Given the description of an element on the screen output the (x, y) to click on. 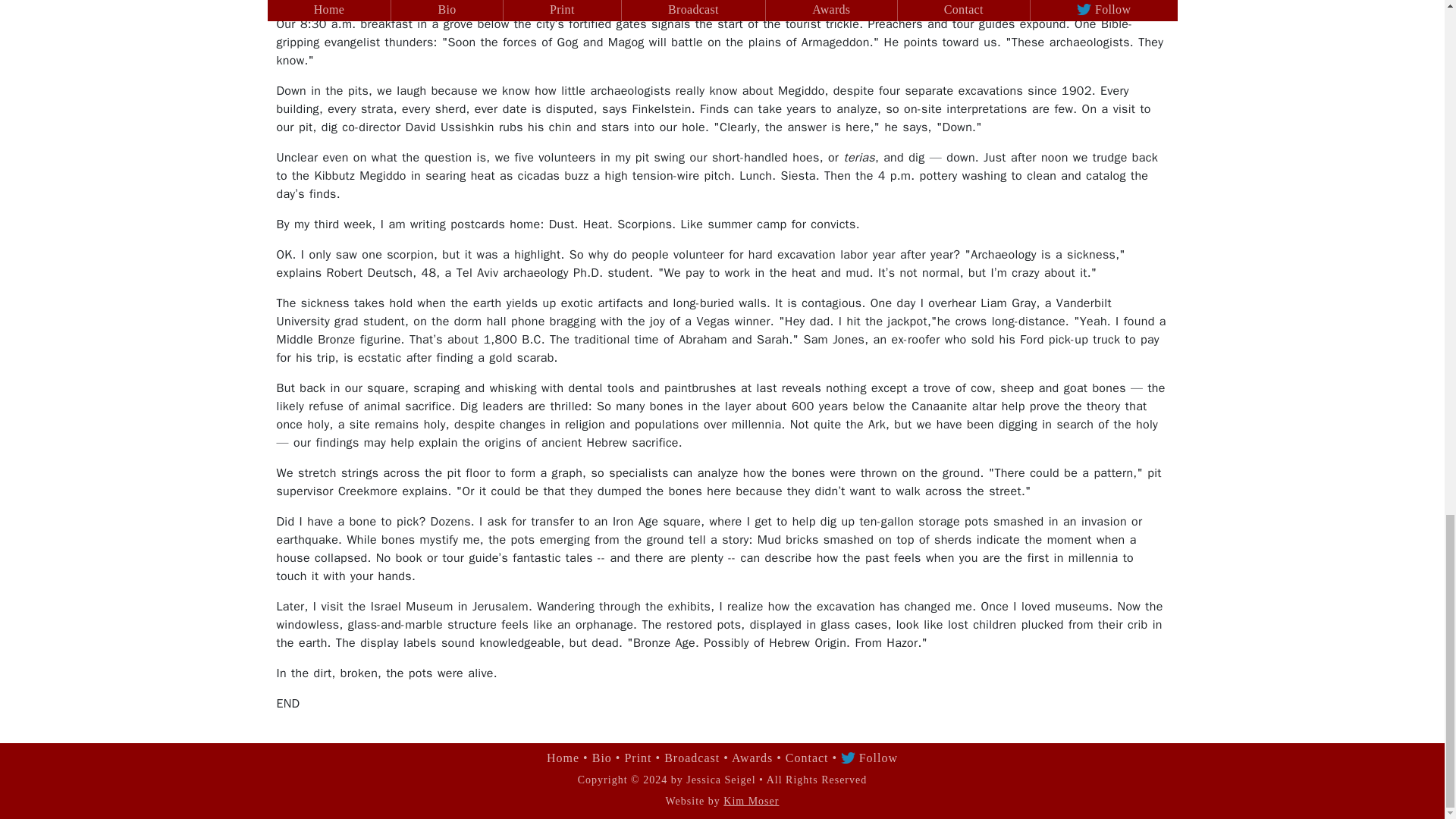
Home (565, 757)
Bio (603, 757)
Kim Moser (750, 800)
Print (639, 757)
Awards (754, 757)
Contact (809, 757)
Follow (869, 757)
Broadcast (693, 757)
